Given the description of an element on the screen output the (x, y) to click on. 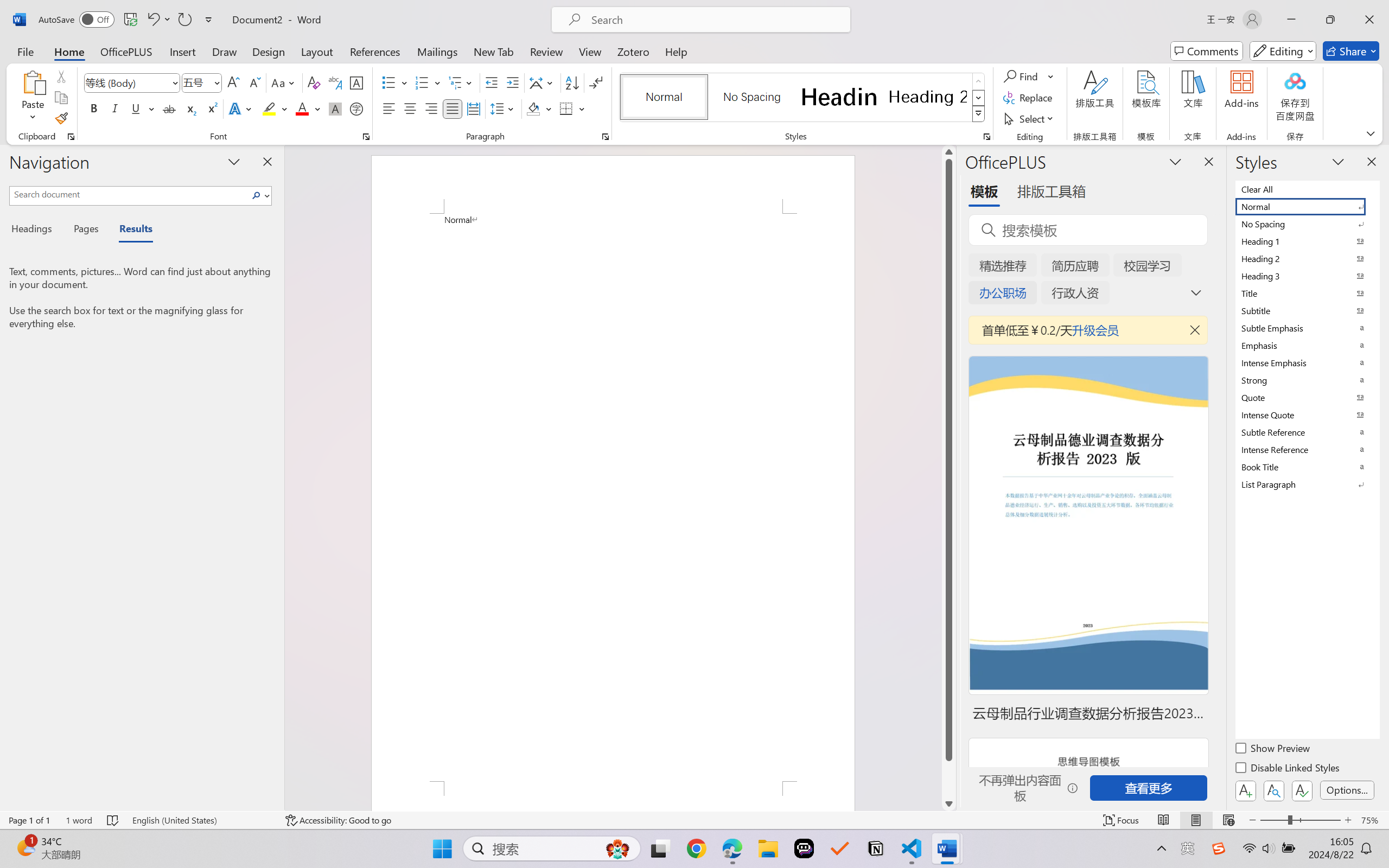
OfficePLUS (126, 51)
Show/Hide Editing Marks (595, 82)
Page 1 content (612, 497)
Clear All (1306, 188)
Options... (1346, 789)
Font Color (308, 108)
Title (1306, 293)
Restore Down (1330, 19)
Strikethrough (169, 108)
Task Pane Options (1175, 161)
Numbering (421, 82)
